Given the description of an element on the screen output the (x, y) to click on. 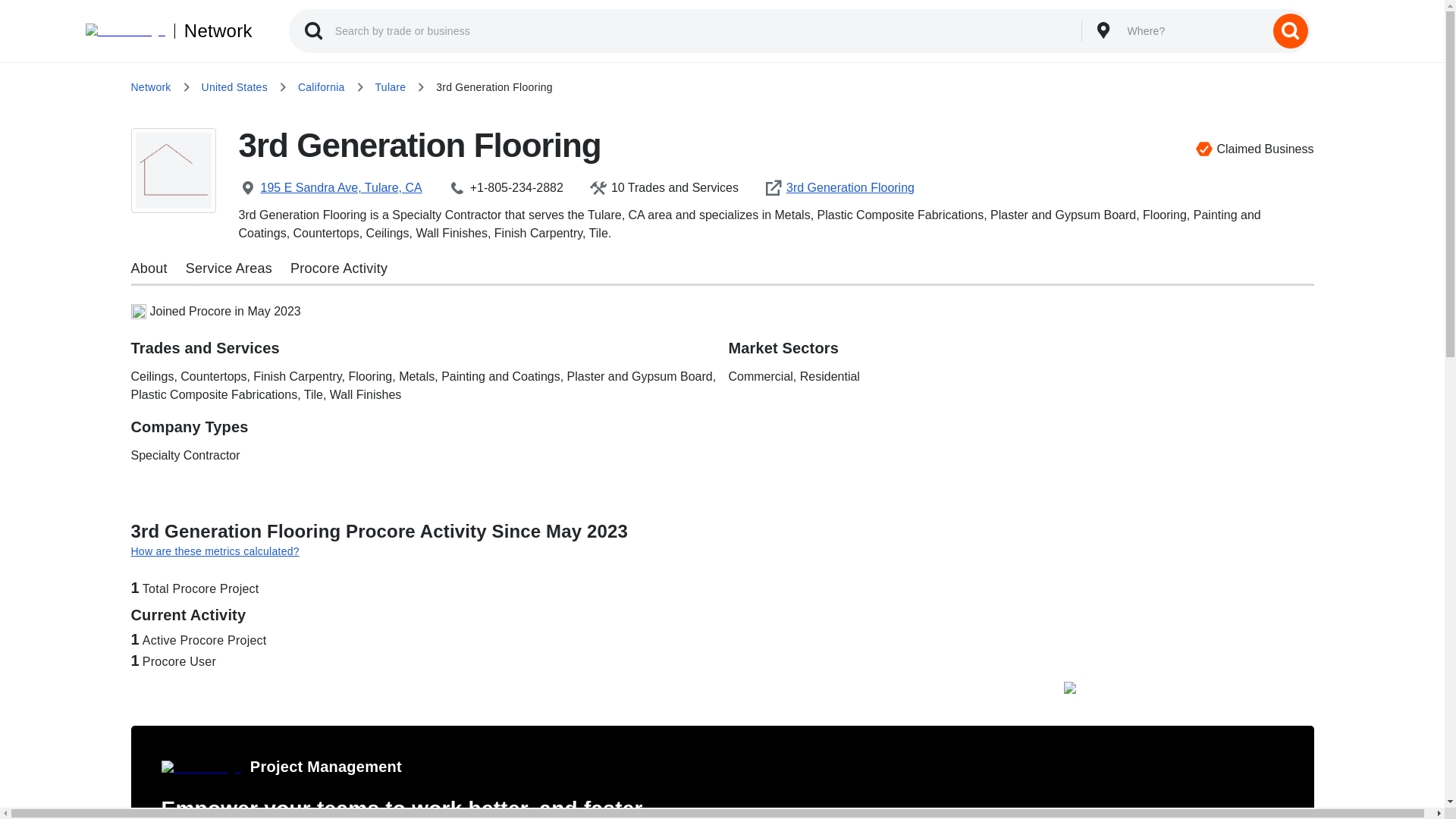
California (321, 87)
Procore Activity (338, 268)
Service Areas (229, 268)
About (149, 268)
Network (212, 30)
3rd Generation Flooring (852, 187)
United States (234, 87)
Tulare (390, 87)
Network (150, 87)
How are these metrics calculated? (722, 550)
195 E Sandra Ave, Tulare, CA (342, 187)
